Given the description of an element on the screen output the (x, y) to click on. 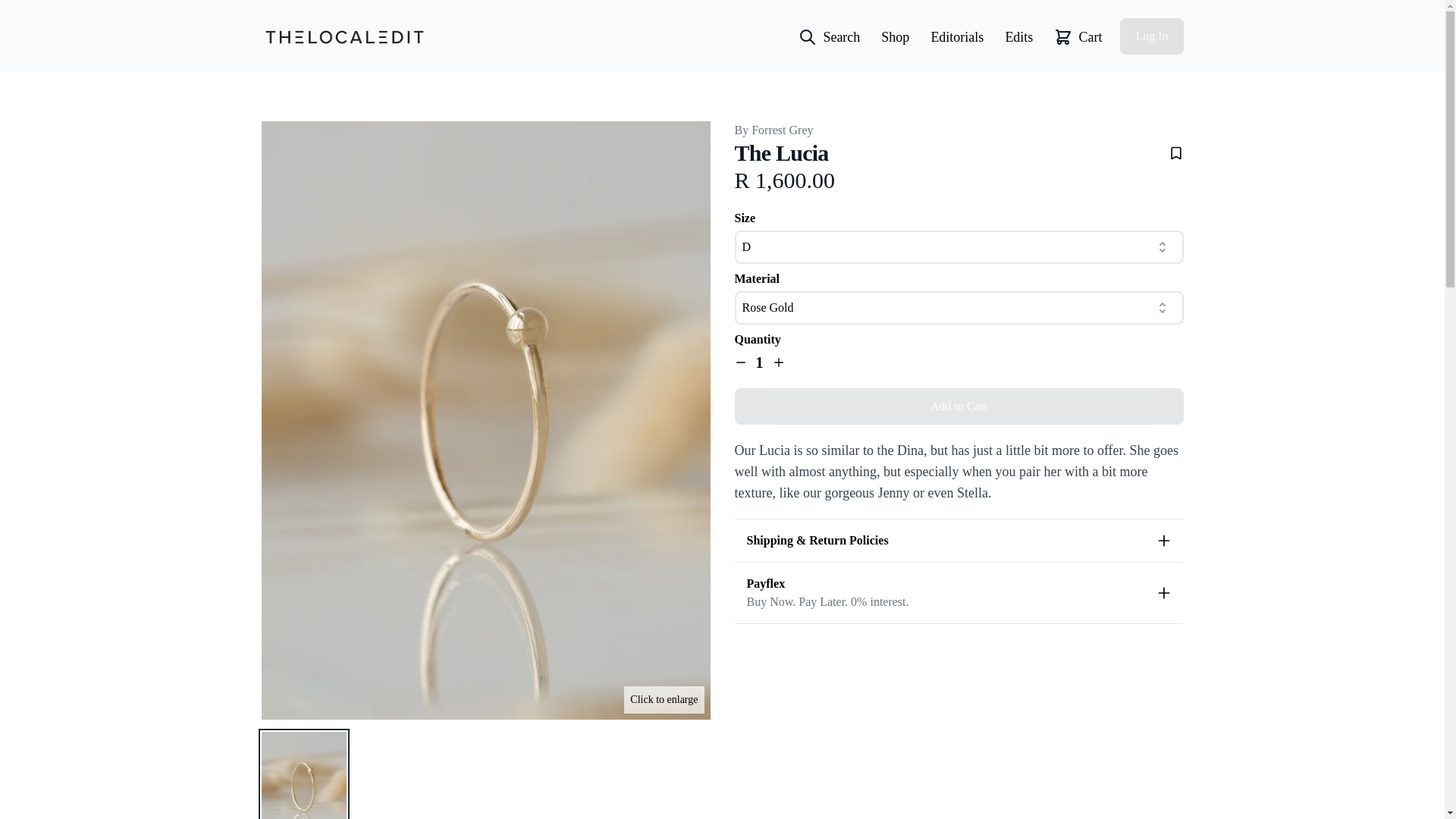
D (957, 246)
Rose Gold (957, 307)
Cart (1078, 36)
Editorials (957, 36)
Log In (1150, 36)
Edits (1018, 36)
Search (828, 36)
By Forrest Grey (772, 129)
Shop (894, 36)
Add to Cart (957, 406)
